Given the description of an element on the screen output the (x, y) to click on. 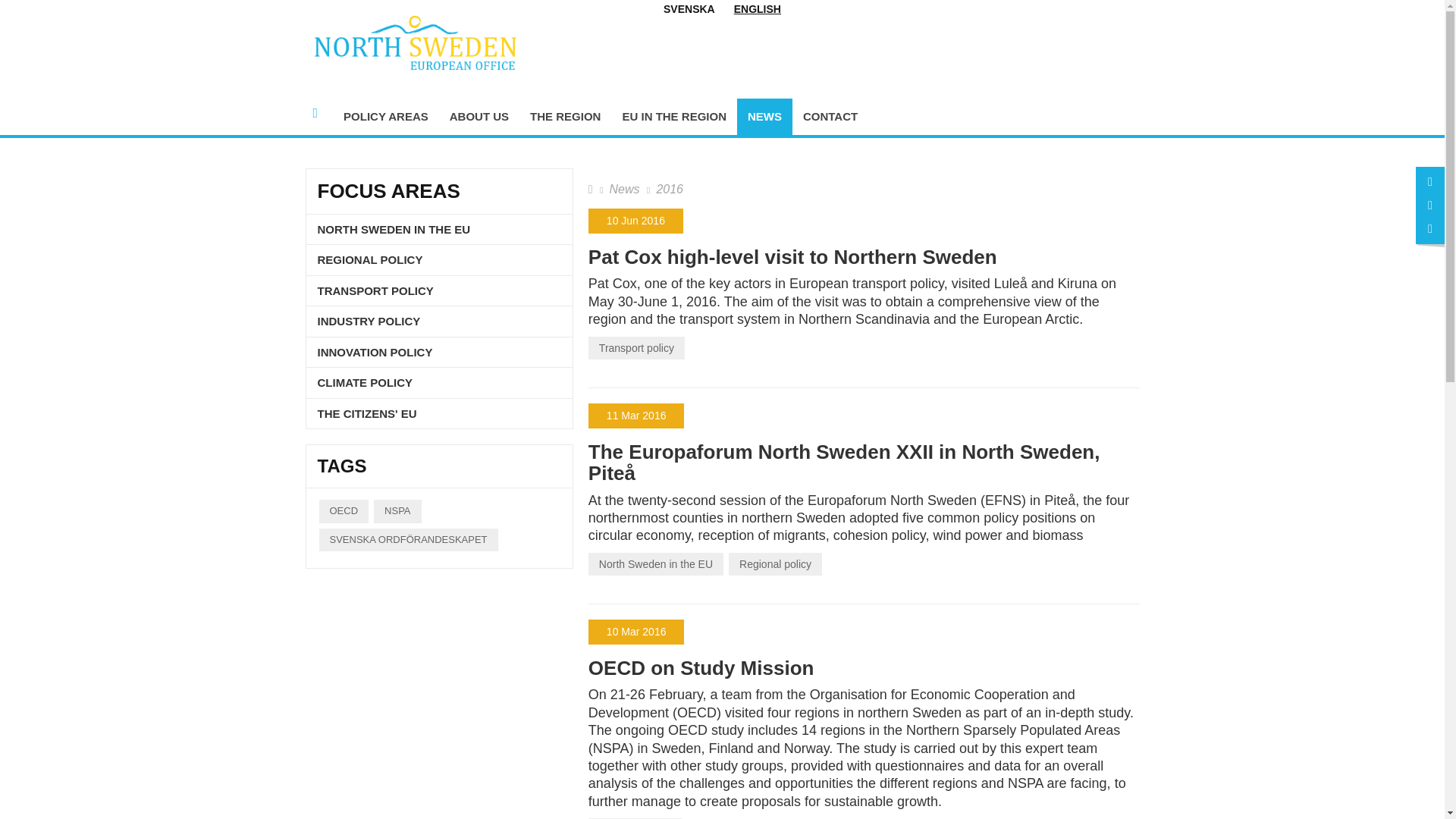
SVENSKA (689, 9)
ABOUT US (479, 116)
POLICY AREAS (386, 116)
CONTACT (829, 116)
NEWS (764, 116)
EU IN THE REGION (673, 116)
ENGLISH (757, 9)
THE REGION (565, 116)
